Given the description of an element on the screen output the (x, y) to click on. 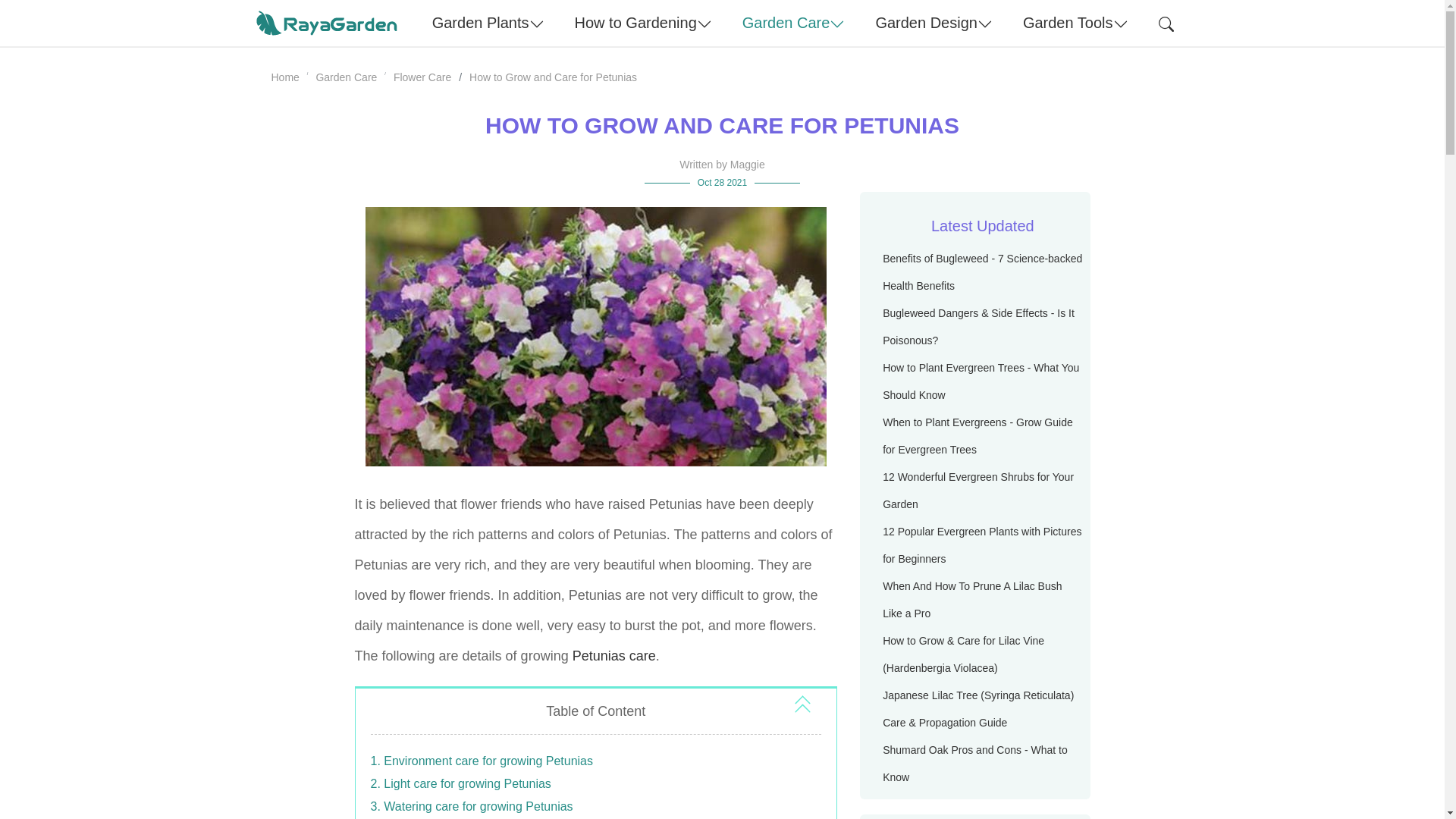
Garden Care (793, 23)
Garden Plants (487, 23)
How to Gardening (642, 23)
Garden Design (933, 23)
